Given the description of an element on the screen output the (x, y) to click on. 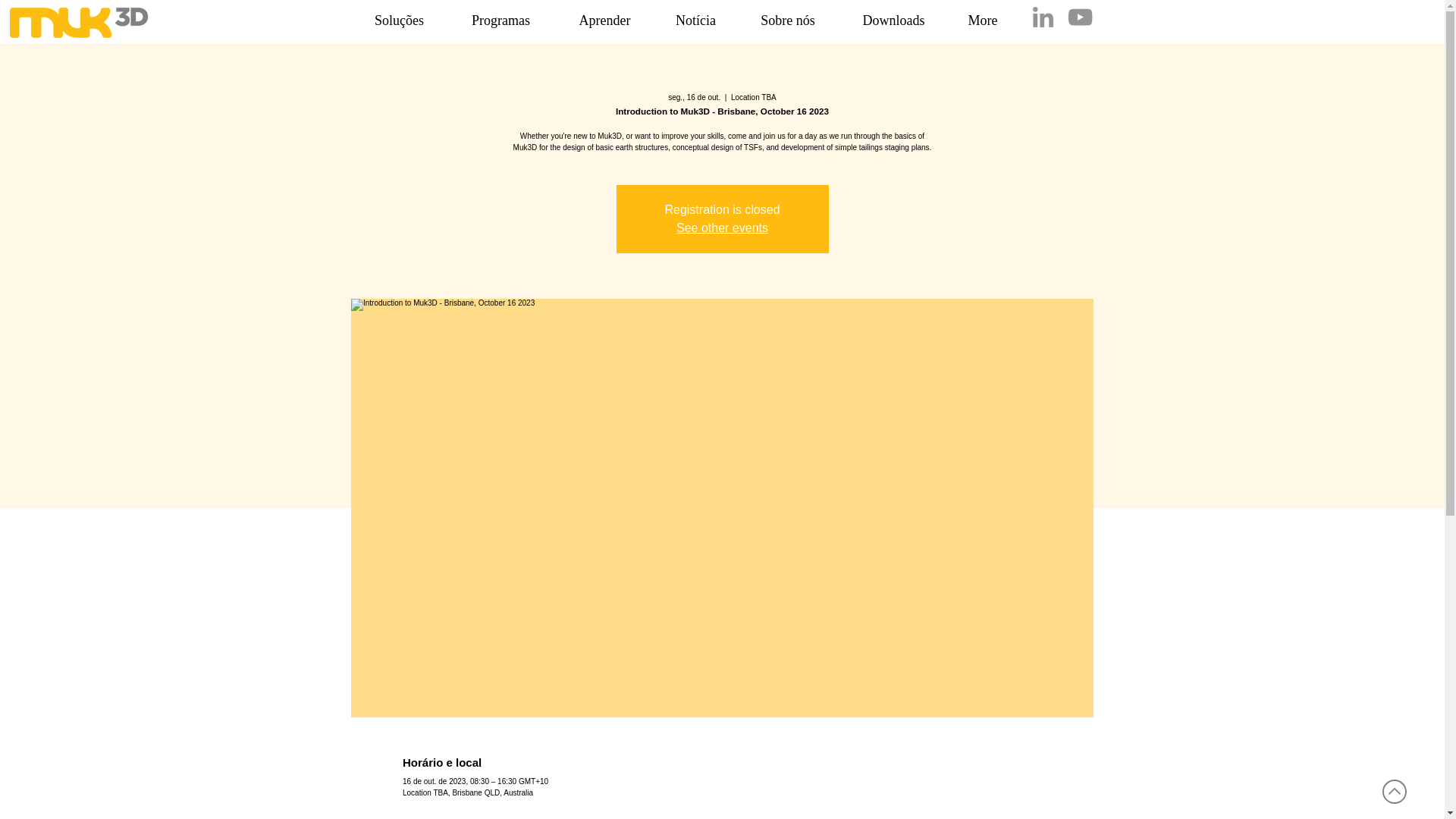
See other events (722, 227)
Downloads (892, 20)
Aprender (604, 20)
Programas (500, 20)
